Given the description of an element on the screen output the (x, y) to click on. 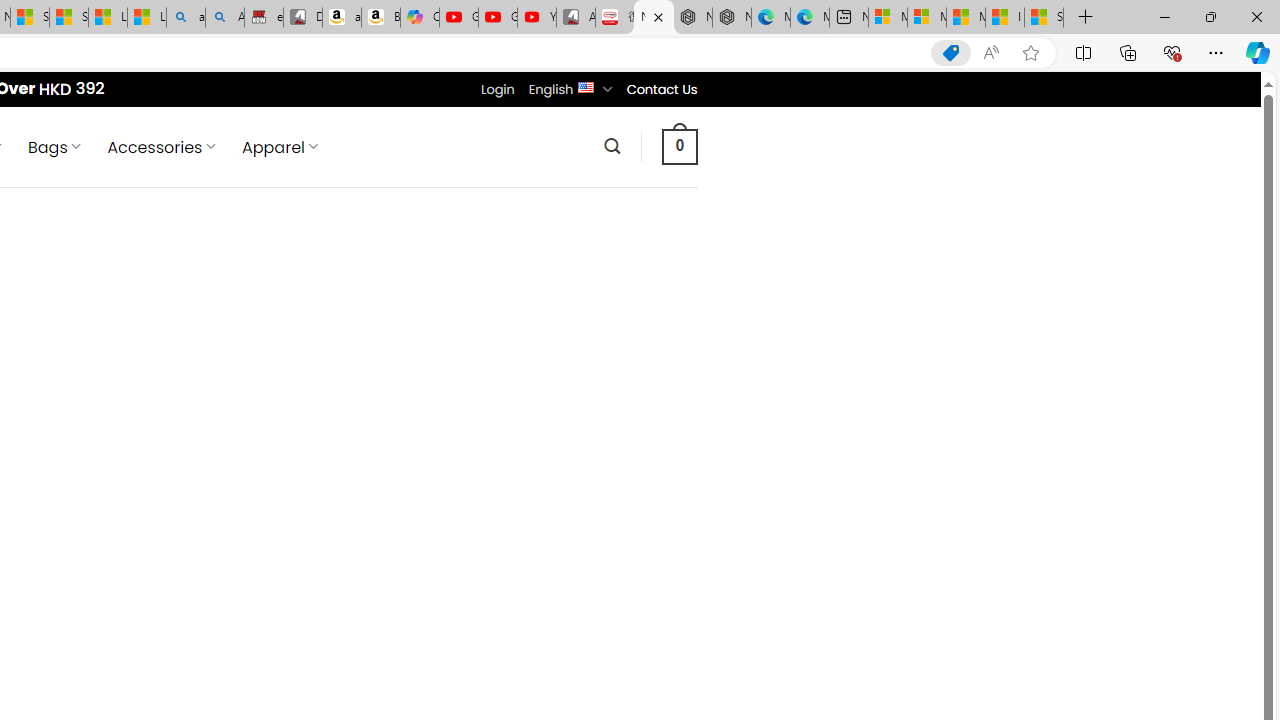
Amazon Echo Dot PNG - Search Images (225, 17)
Copilot (419, 17)
